Given the description of an element on the screen output the (x, y) to click on. 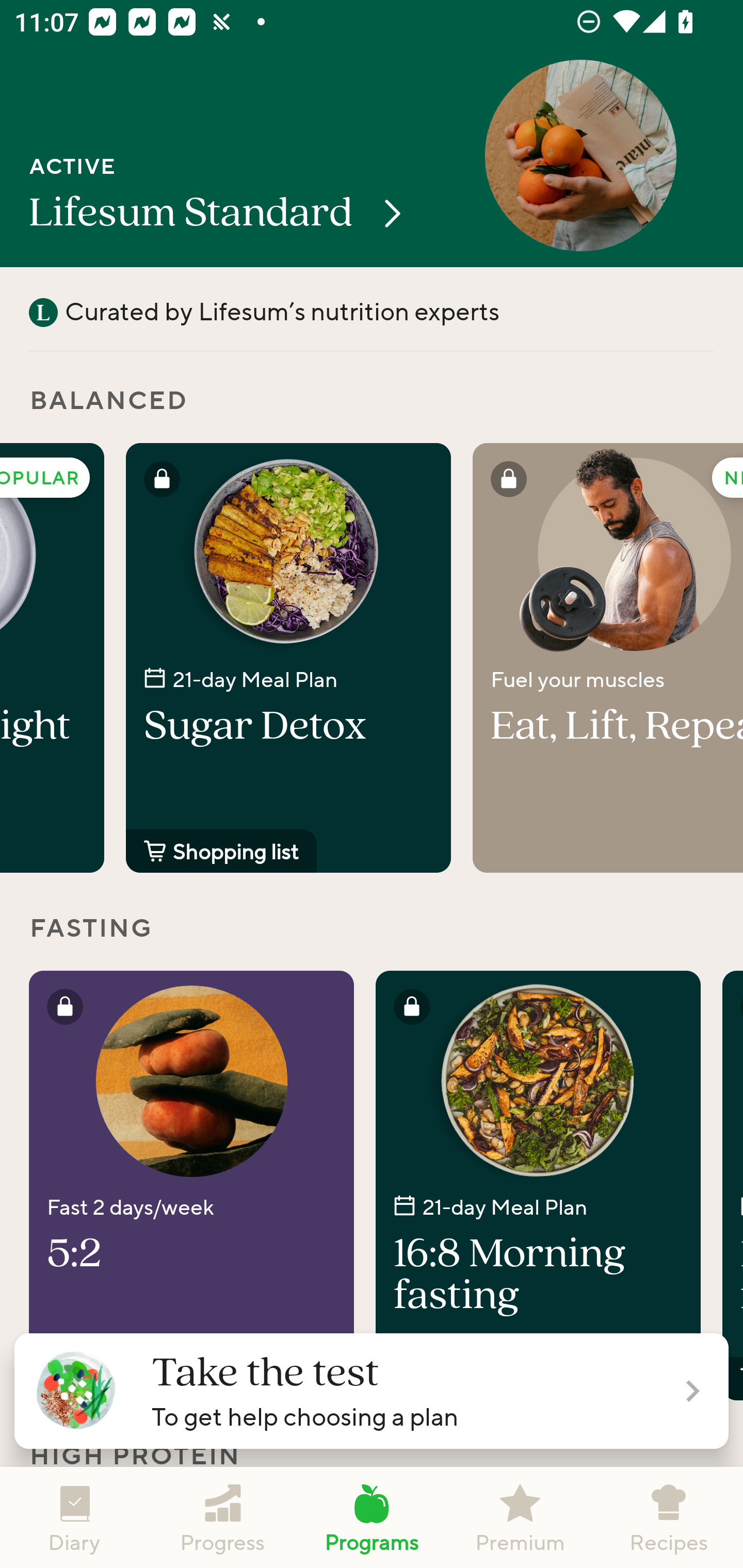
21-day Meal Plan Sugar Detox Shopping list (288, 658)
NEW Fuel your muscles Eat, Lift, Repeat (607, 658)
Fast 2 days/week 5:2 (190, 1185)
Take the test To get help choosing a plan (371, 1390)
Diary (74, 1517)
Progress (222, 1517)
Premium (519, 1517)
Recipes (668, 1517)
